Given the description of an element on the screen output the (x, y) to click on. 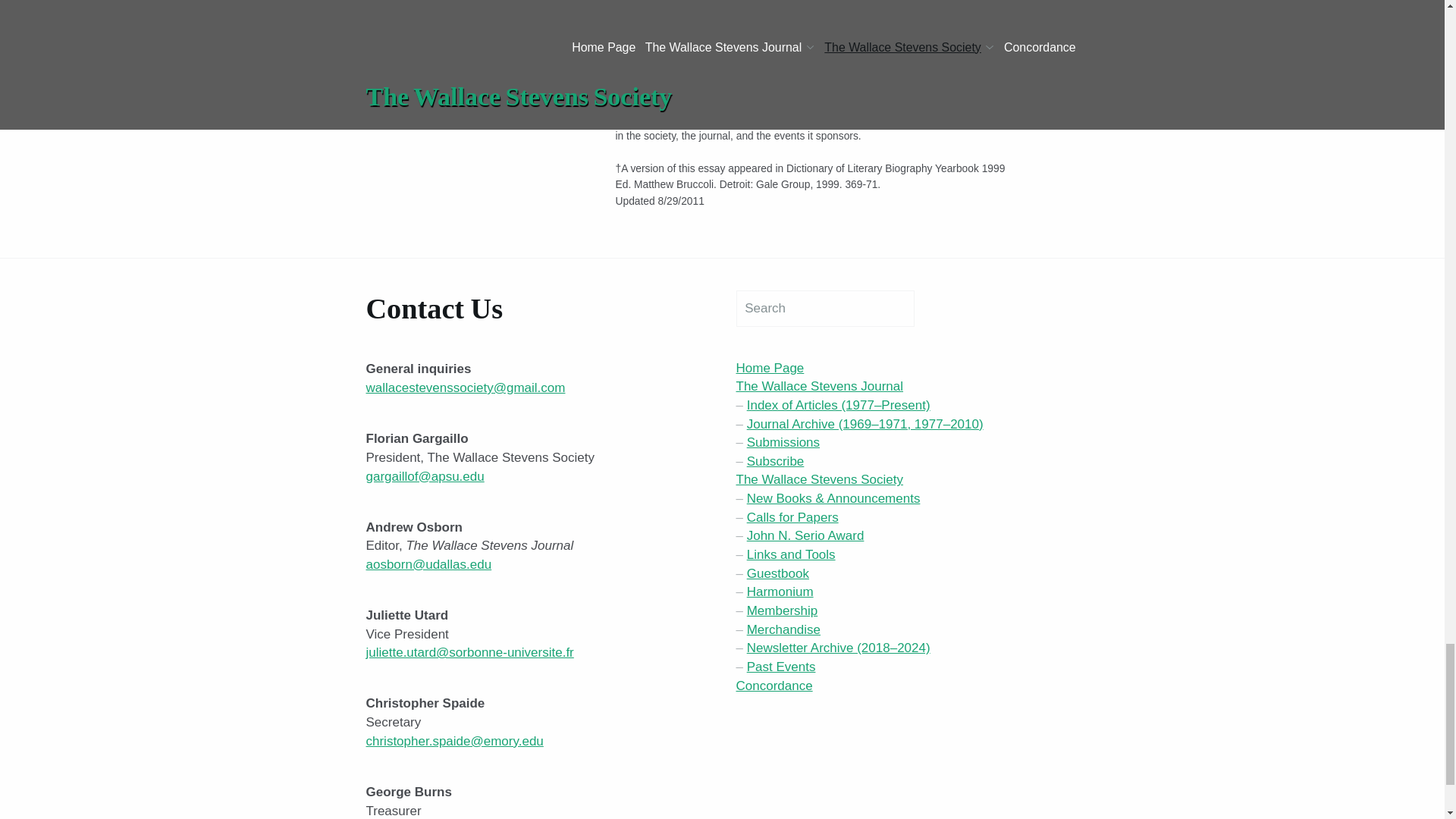
The Wallace Stevens Society (819, 479)
The Wallace Stevens Journal (819, 386)
Home Page (770, 368)
Calls for Papers (792, 517)
John N. Serio Award (805, 535)
Submissions (782, 441)
Subscribe (775, 461)
